Given the description of an element on the screen output the (x, y) to click on. 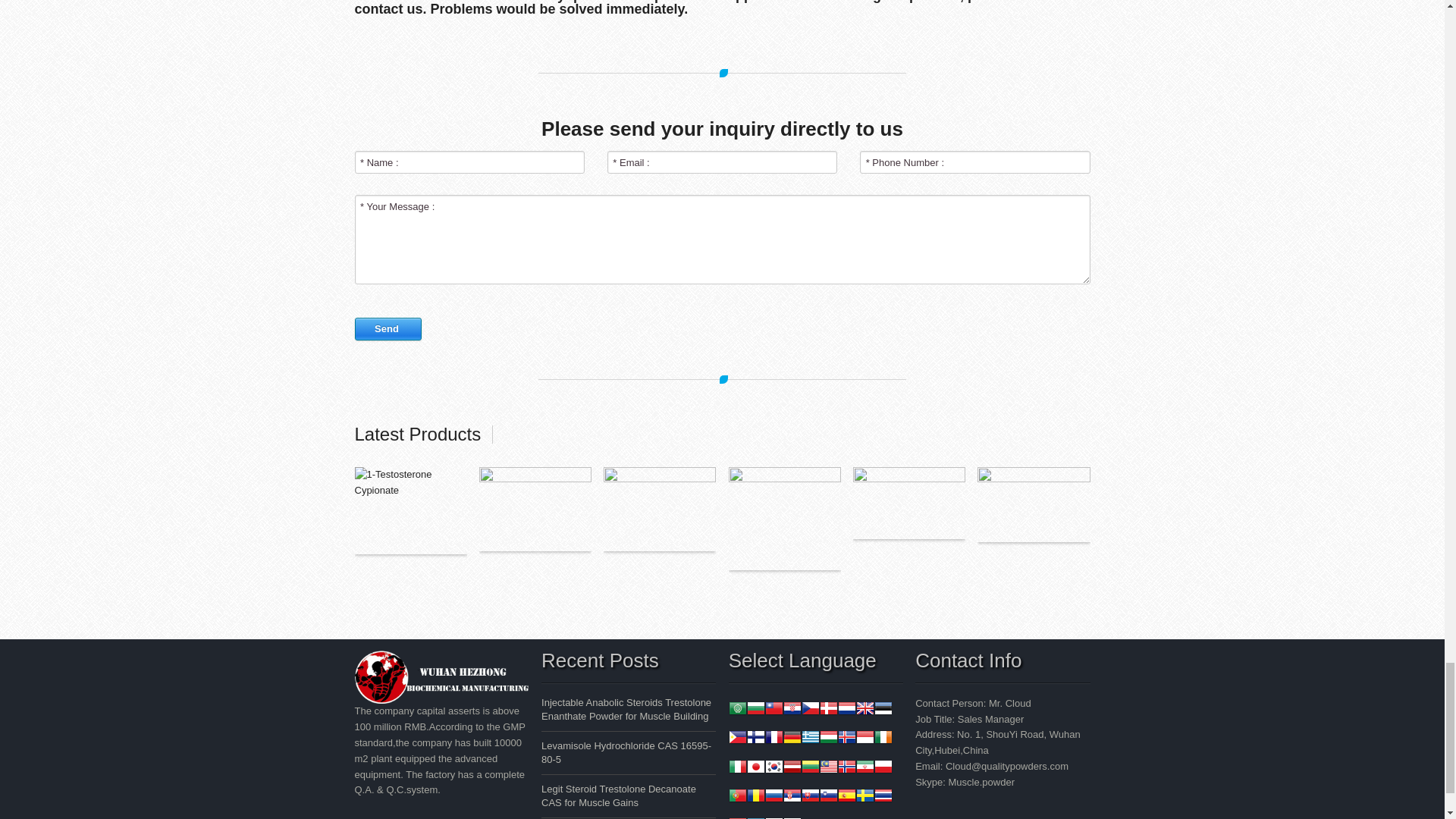
Bulgarian (755, 710)
Arabic (737, 710)
Permalink to Levamisole Hydrochloride CAS 16595-80-5 (626, 752)
Czech (810, 710)
Croatian (792, 710)
